Given the description of an element on the screen output the (x, y) to click on. 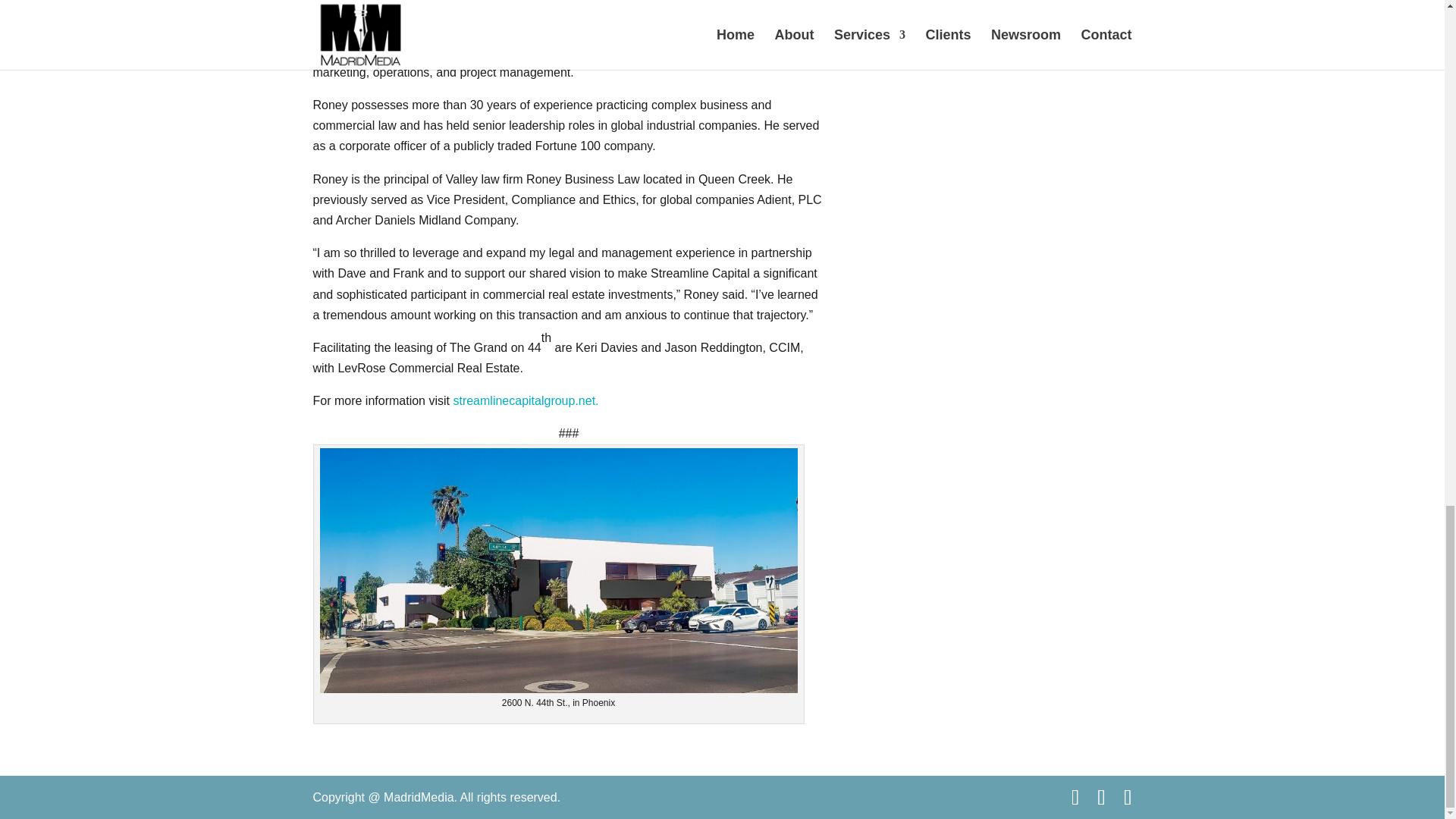
streamlinecapitalgroup.net. (525, 400)
